Given the description of an element on the screen output the (x, y) to click on. 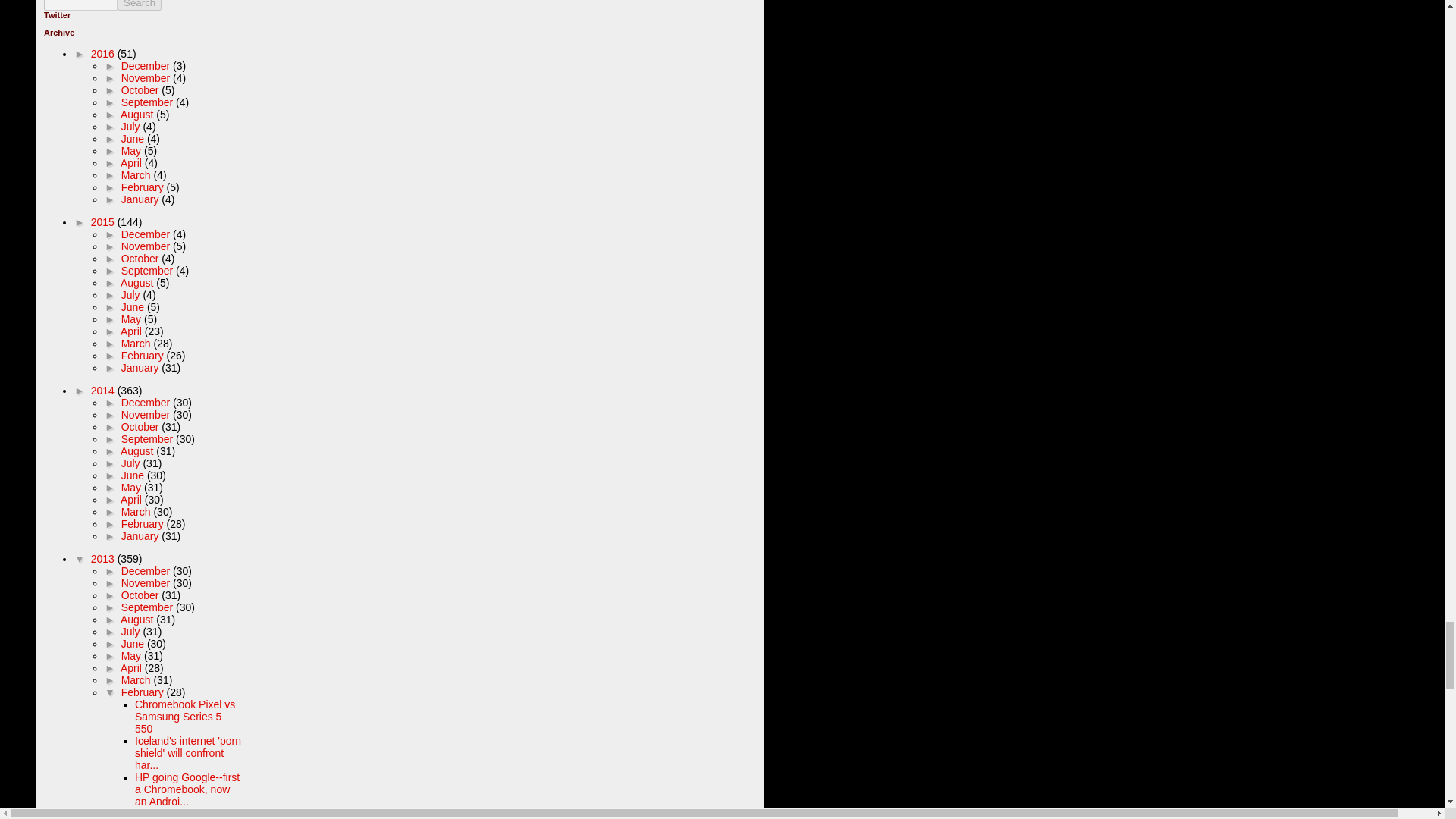
search (139, 5)
Search (139, 5)
search (80, 5)
Search (139, 5)
